Given the description of an element on the screen output the (x, y) to click on. 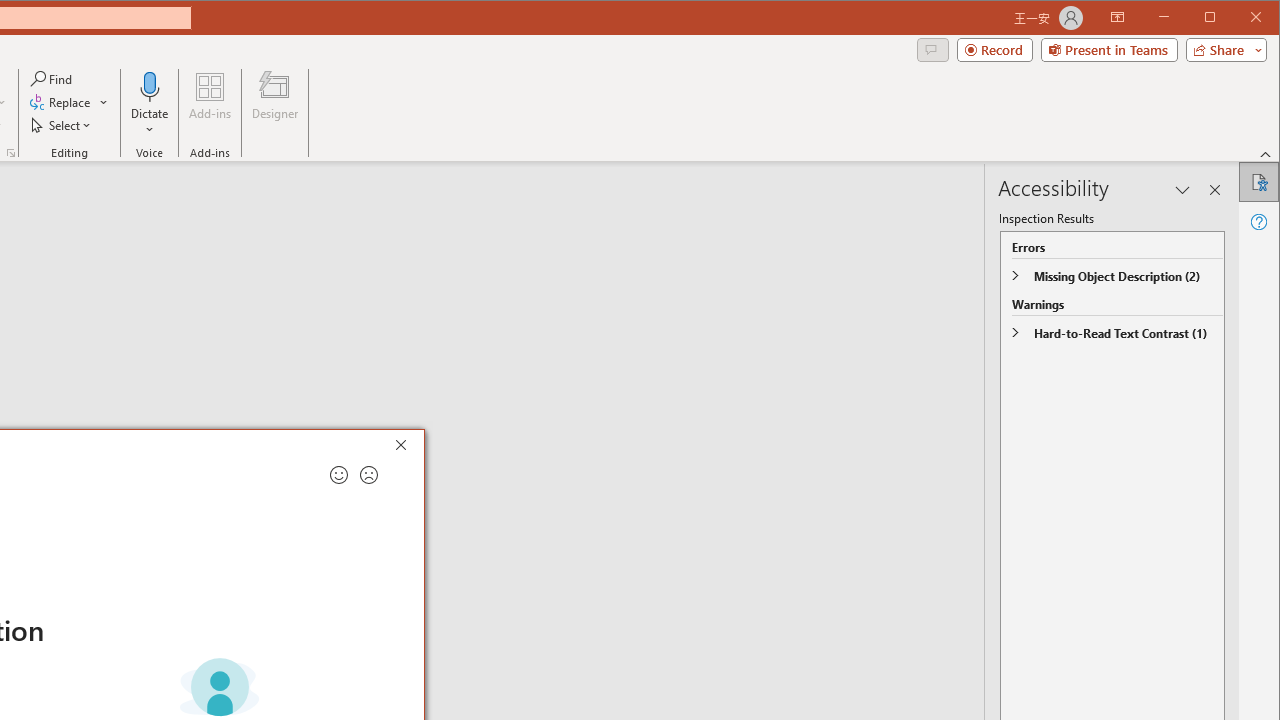
Send a smile for feedback (338, 475)
